Given the description of an element on the screen output the (x, y) to click on. 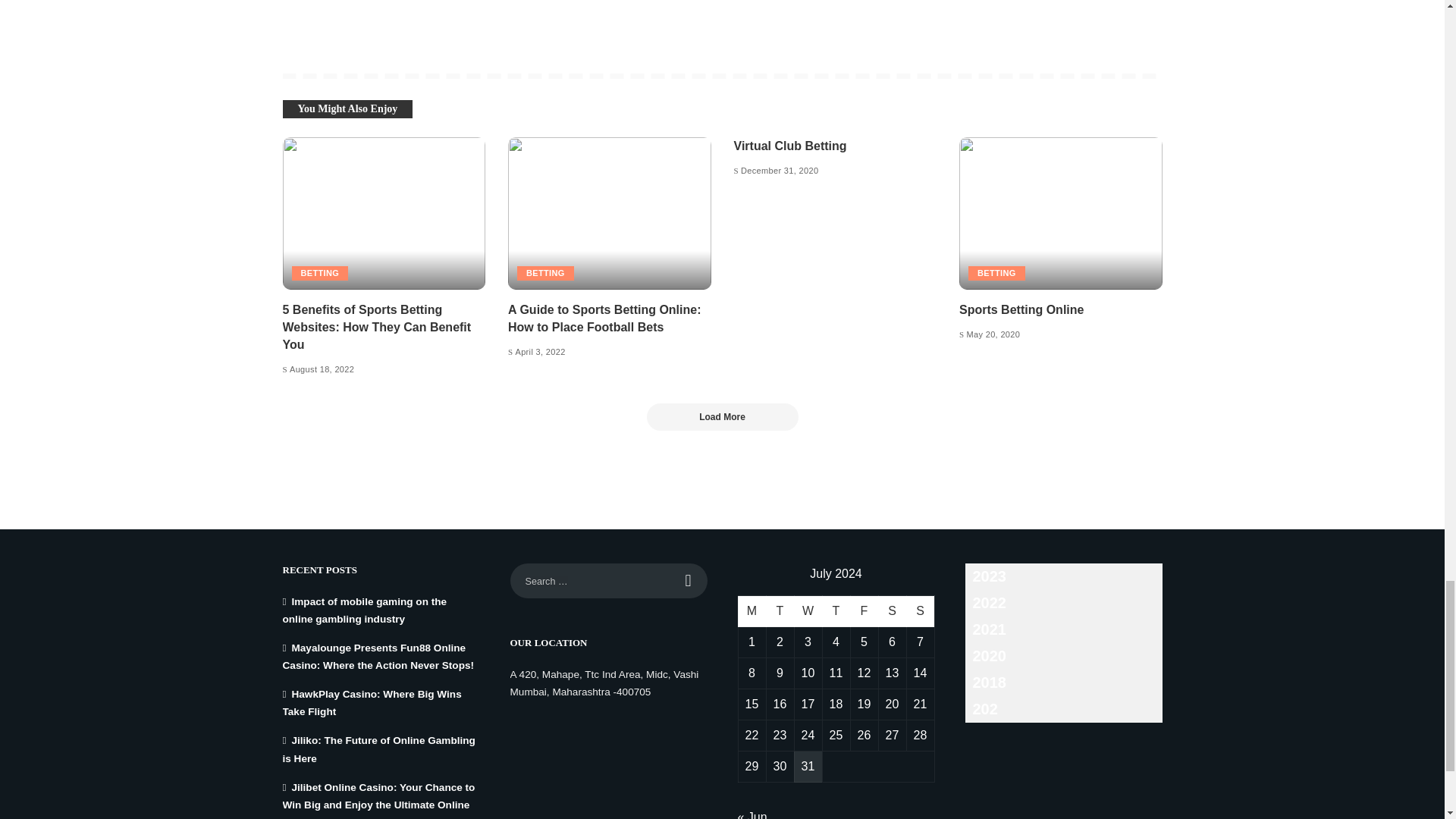
Search (688, 580)
Search (688, 580)
